Given the description of an element on the screen output the (x, y) to click on. 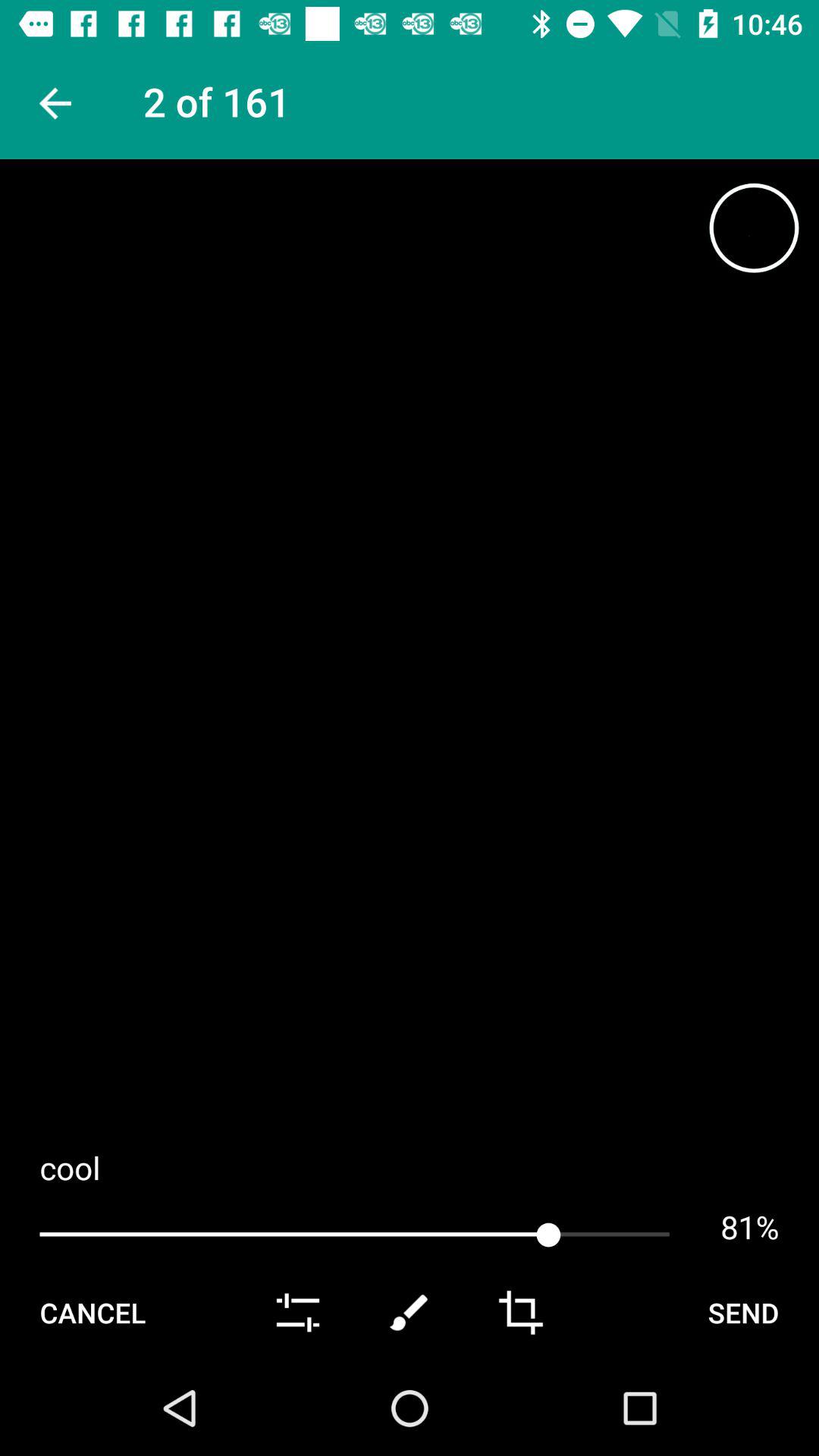
scroll to cancel item (92, 1312)
